Given the description of an element on the screen output the (x, y) to click on. 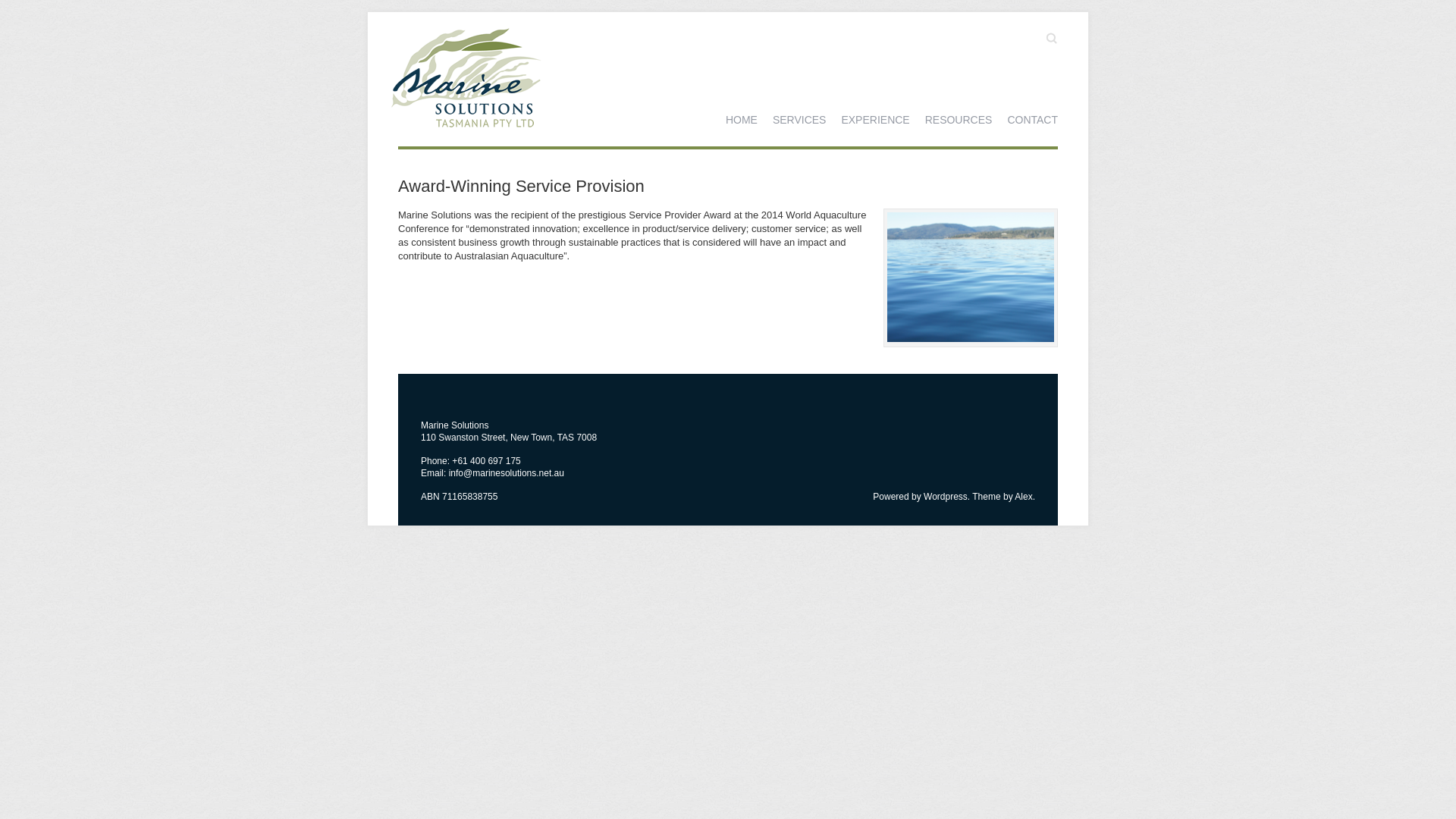
CONTACT Element type: text (1032, 119)
EXPERIENCE Element type: text (874, 119)
RESOURCES Element type: text (958, 119)
SERVICES Element type: text (799, 119)
info@marinesolutions.net.au Element type: text (506, 472)
HOME Element type: text (741, 119)
Wordpress Element type: text (945, 496)
Alex Element type: text (1023, 496)
